Given the description of an element on the screen output the (x, y) to click on. 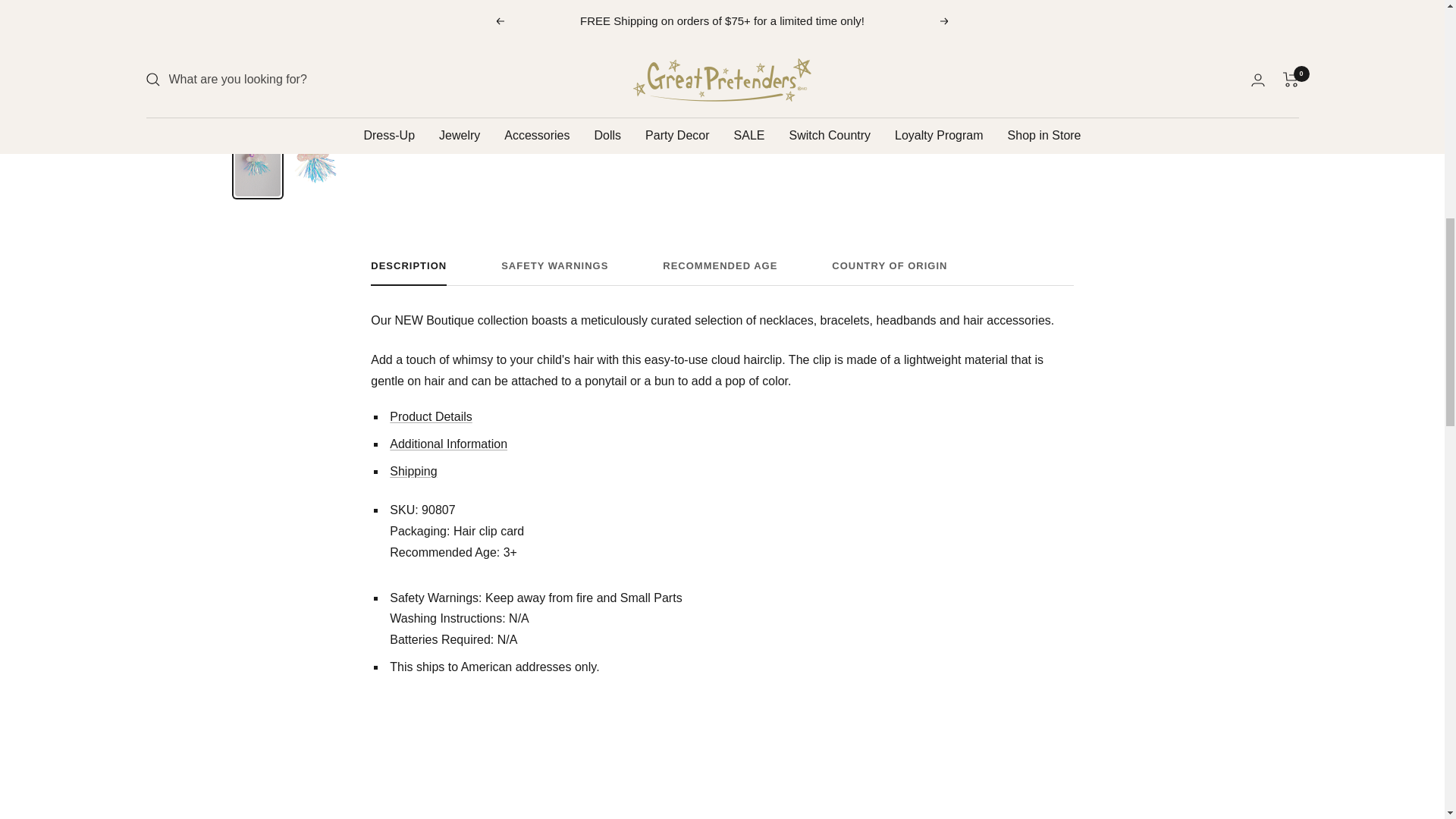
Zoom (686, 86)
